Given the description of an element on the screen output the (x, y) to click on. 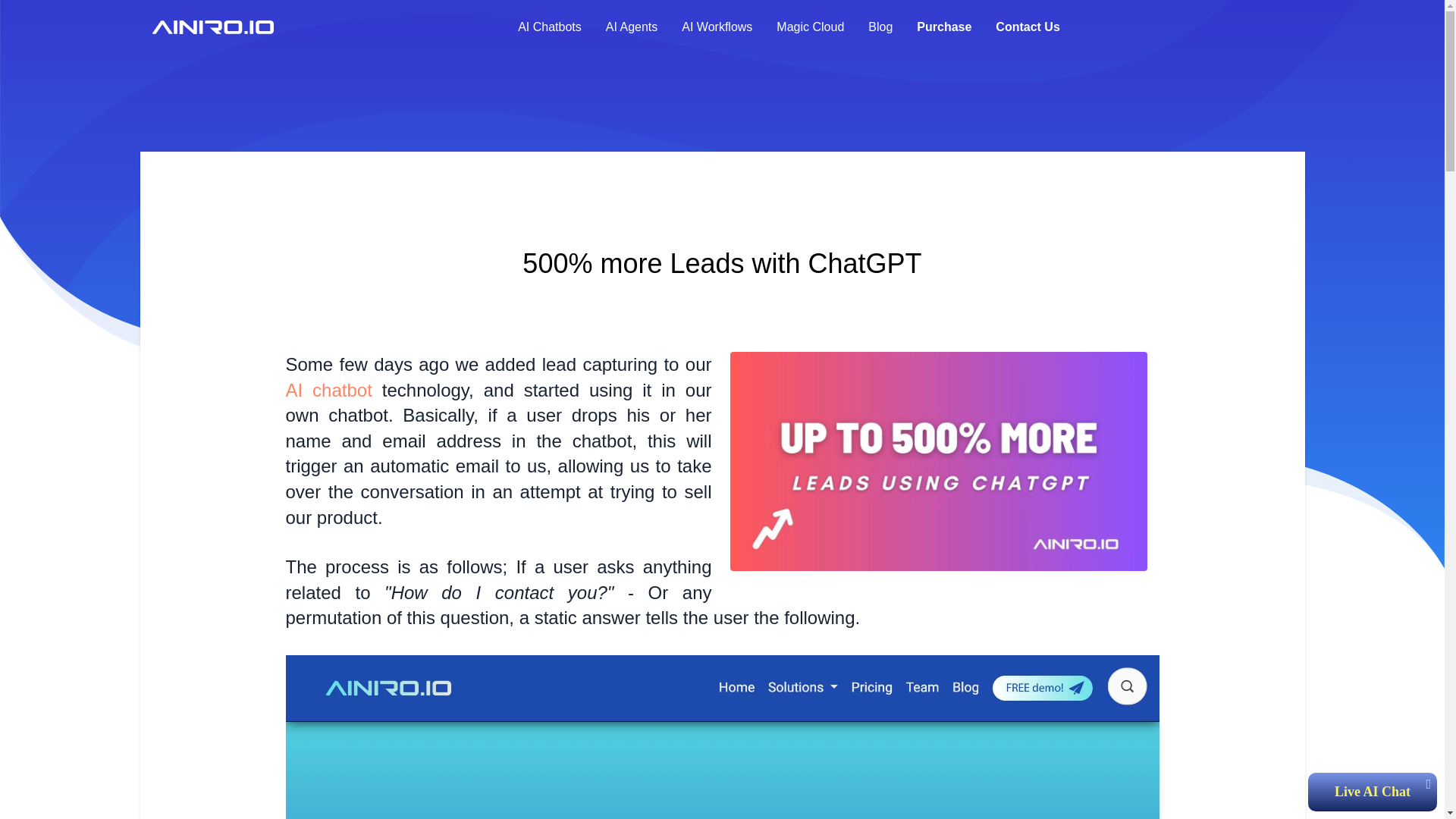
Contact Us (1027, 27)
Purchase (944, 27)
AI Workflows (716, 27)
AI Agents (631, 27)
Blog (880, 27)
AI Chatbots (549, 27)
AI Workflows (716, 27)
Blog (880, 27)
AI Agents (631, 27)
AI chatbot (328, 390)
